Given the description of an element on the screen output the (x, y) to click on. 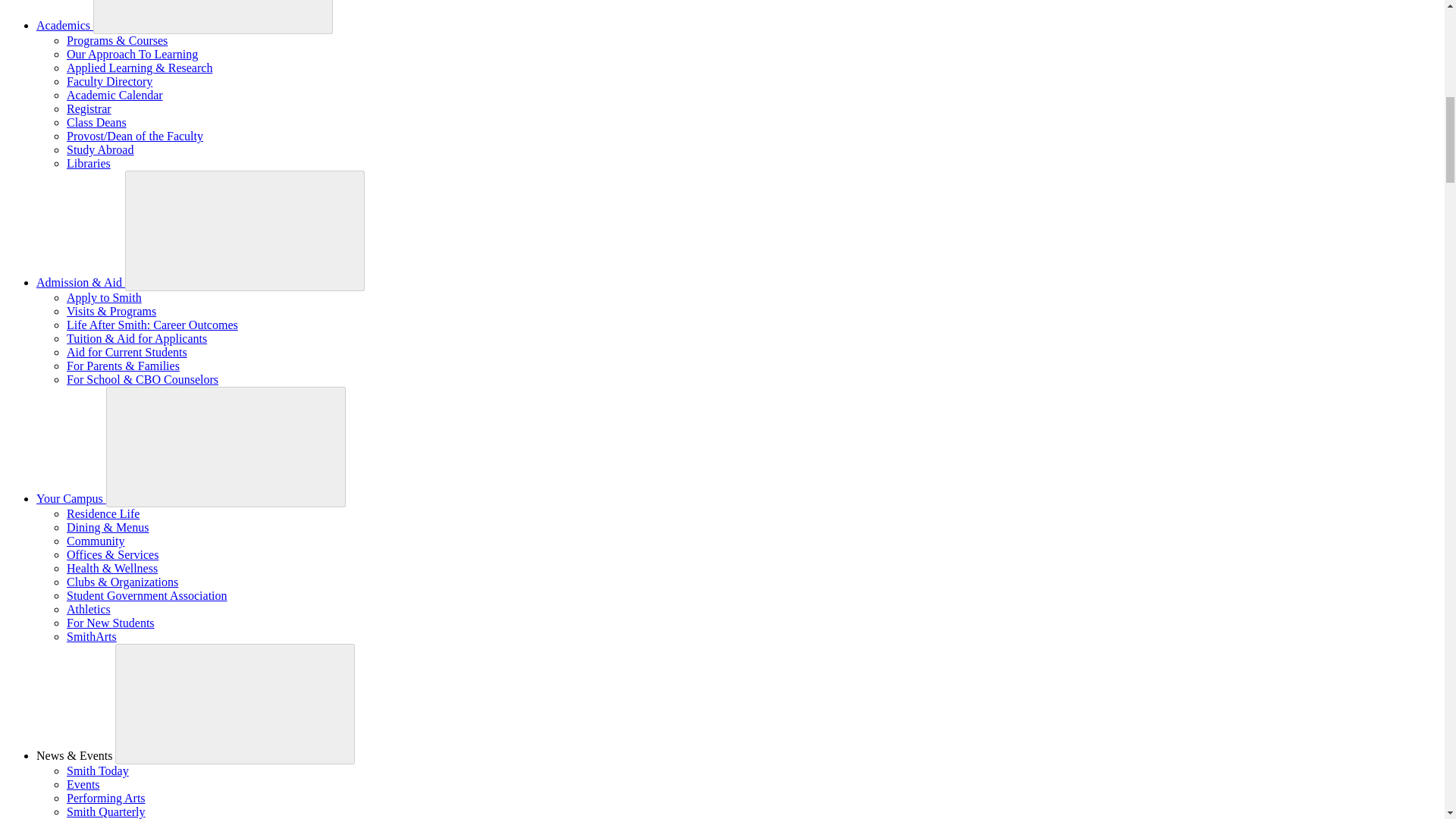
Our Approach To Learning (132, 53)
Faculty Directory (109, 81)
Registrar (89, 108)
Life After Smith: Career Outcomes (152, 324)
Apply to Smith (103, 297)
Study Abroad (99, 149)
Academic Calendar (114, 94)
Class Deans (96, 122)
Aid for Current Students (126, 351)
Expand Academics Menu (213, 17)
Academics (64, 24)
Libraries (88, 163)
